Given the description of an element on the screen output the (x, y) to click on. 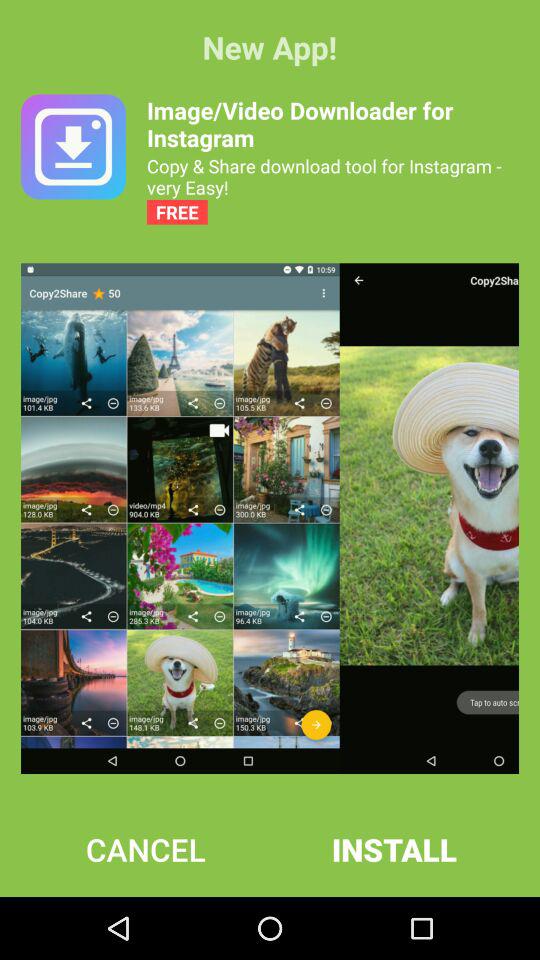
turn off the install (394, 849)
